Given the description of an element on the screen output the (x, y) to click on. 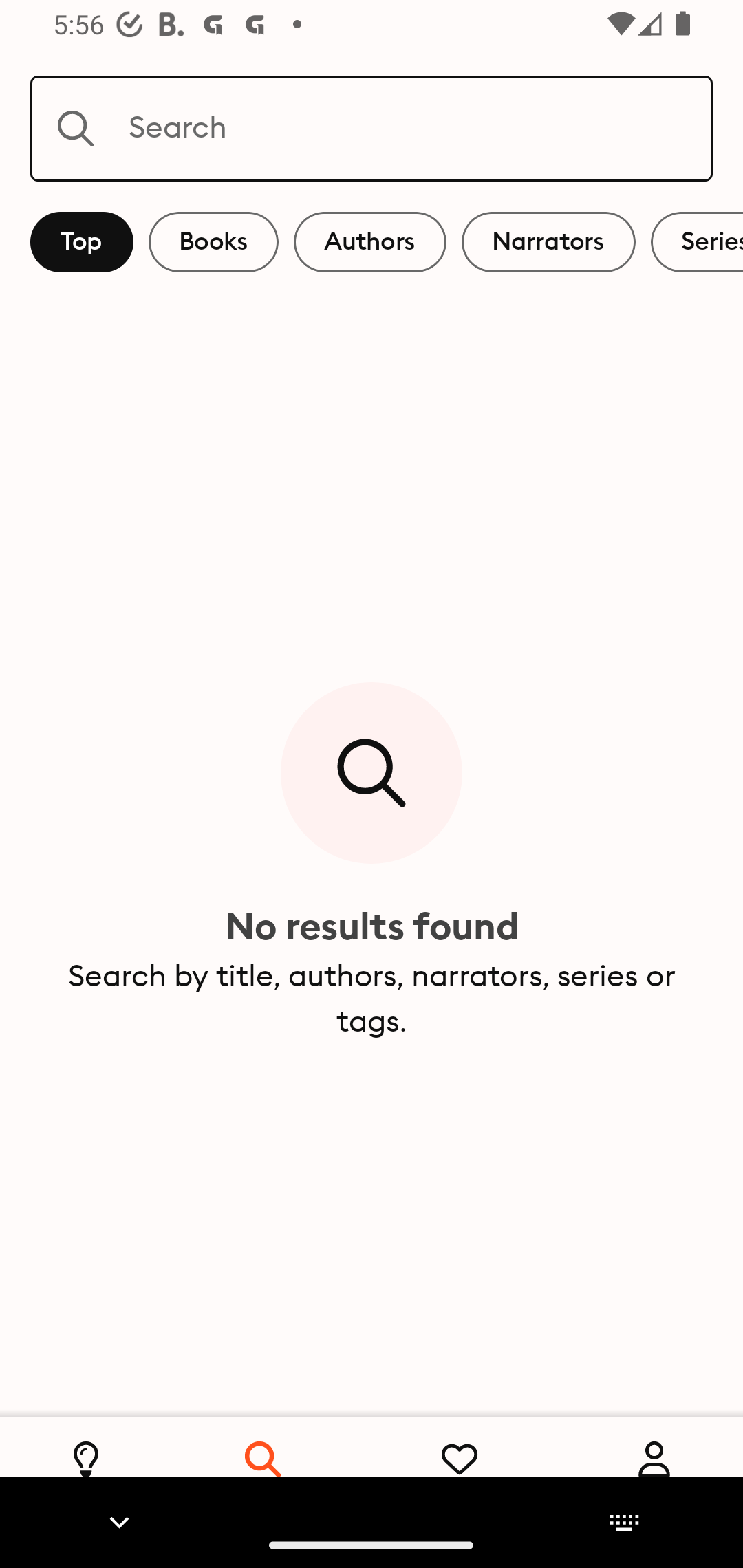
Search (371, 128)
Top (81, 241)
Books (213, 241)
Authors (369, 241)
Narrators (548, 241)
Series (696, 241)
